Given the description of an element on the screen output the (x, y) to click on. 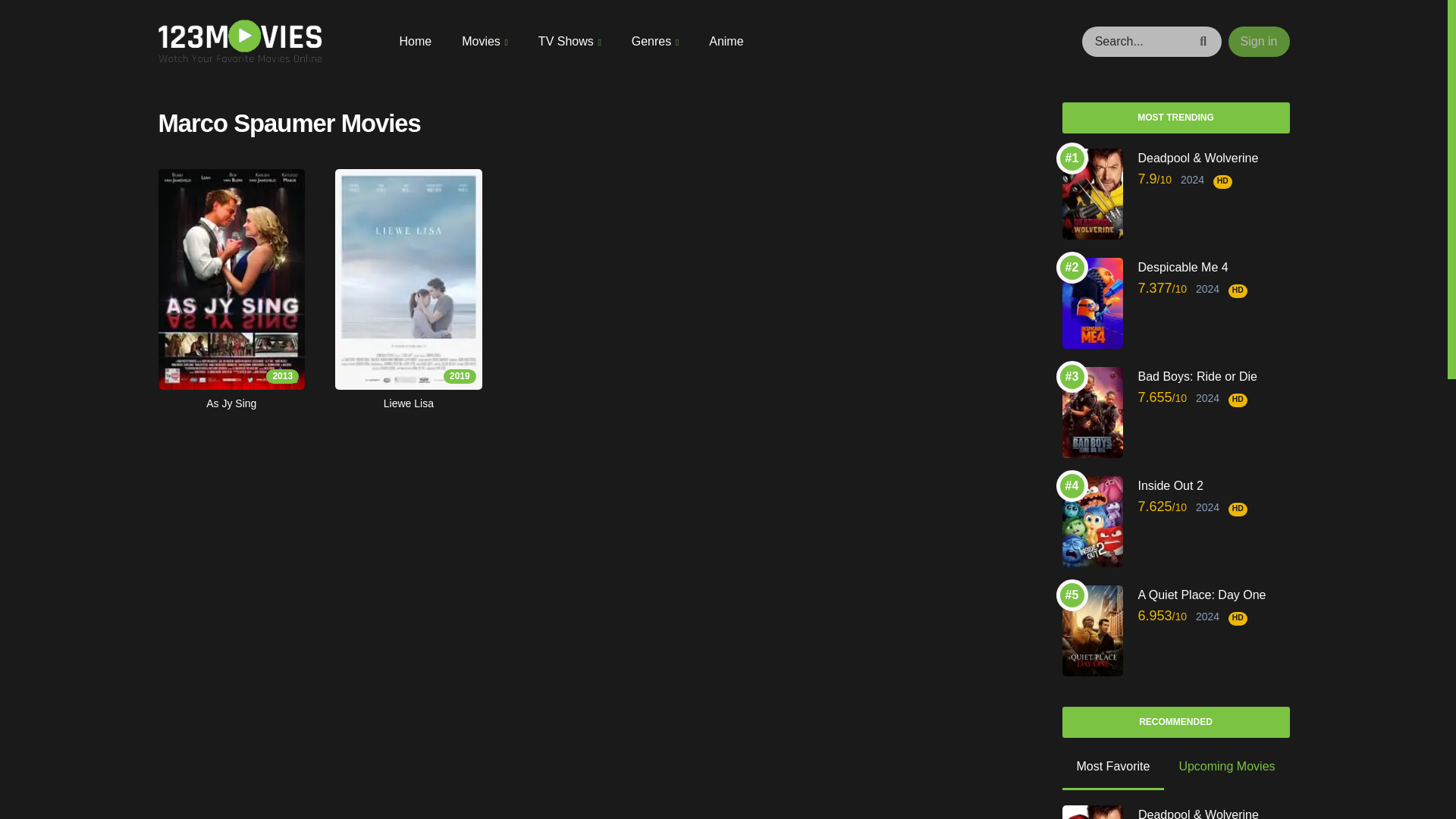
A Quiet Place: Day One (1212, 594)
Despicable Me 4 (1212, 266)
TV Shows (569, 41)
Inside Out 2 (1212, 485)
Bad Boys: Ride or Die (1212, 375)
Movies (484, 41)
Sign in (1259, 41)
Genres (654, 41)
Home (414, 40)
Anime (725, 40)
